Given the description of an element on the screen output the (x, y) to click on. 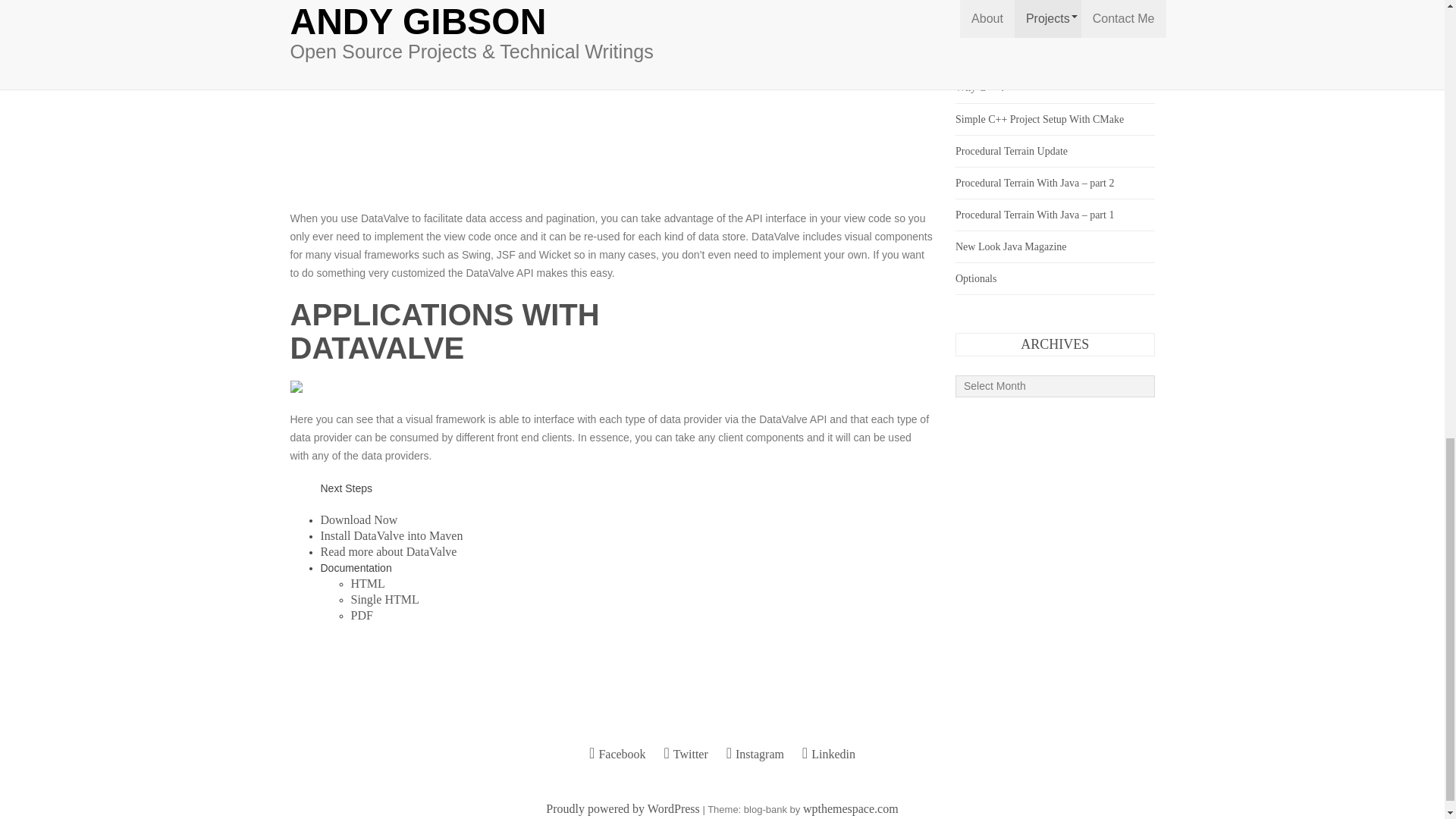
PDF (361, 615)
Single HTML (384, 599)
Install DataValve into Maven (391, 535)
Download Now (358, 519)
Read more about DataValve (388, 551)
HTML (367, 583)
